Given the description of an element on the screen output the (x, y) to click on. 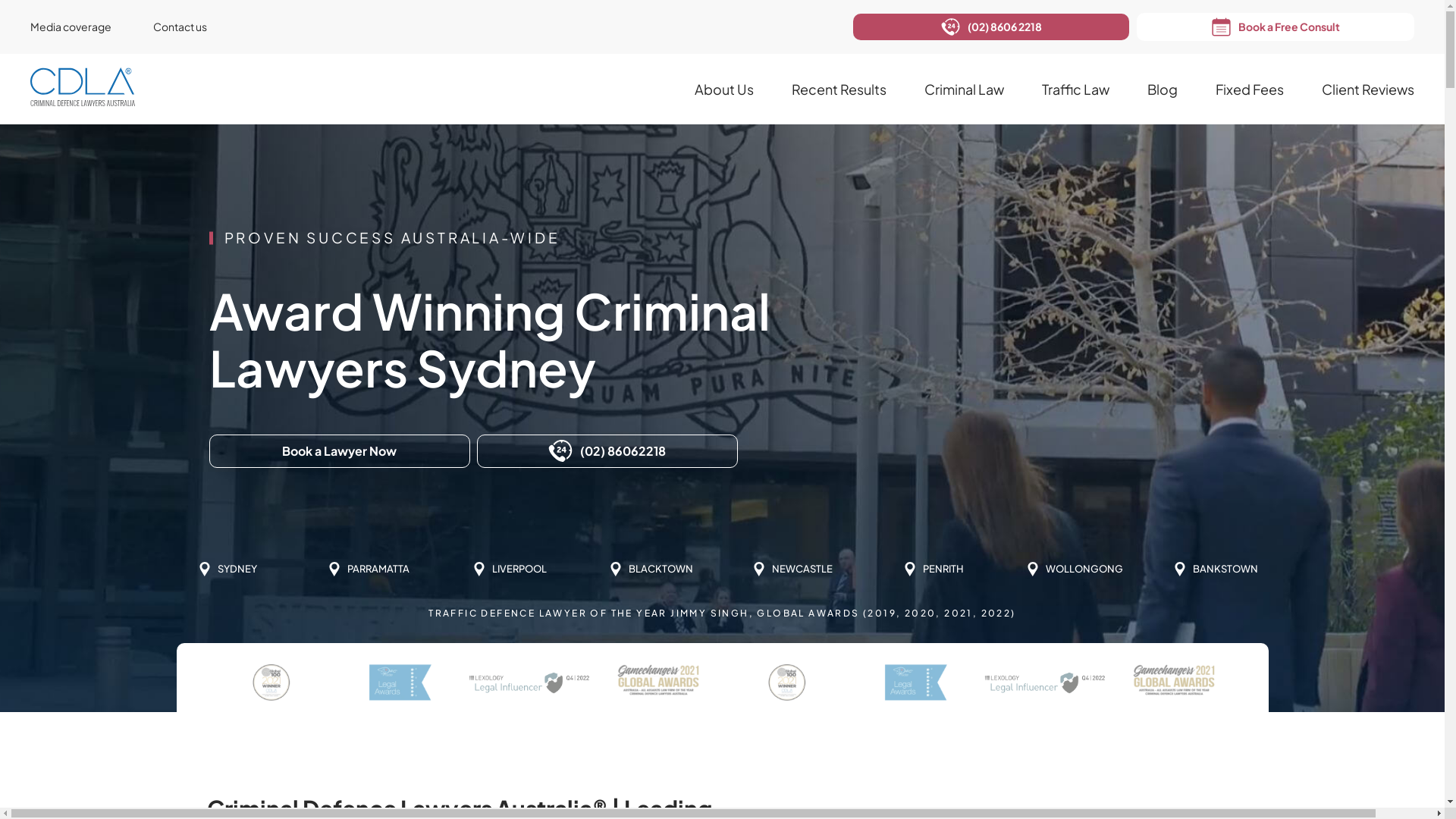
(02) 8606 2218 Element type: text (991, 26)
Fixed Fees Element type: text (1249, 88)
(02) 86062218 Element type: text (606, 450)
Book a Lawyer Now Element type: text (339, 450)
Criminal Law Element type: text (964, 88)
Media coverage Element type: text (91, 27)
BLACKTOWN Element type: text (650, 569)
Traffic Law Element type: text (1075, 88)
Book a Free Consult Element type: text (1275, 26)
SYDNEY Element type: text (227, 569)
PENRITH Element type: text (933, 569)
About Us Element type: text (723, 88)
Contact us Element type: text (200, 27)
NEWCASTLE Element type: text (791, 569)
Recent Results Element type: text (838, 88)
Client Reviews Element type: text (1367, 88)
WOLLONGONG Element type: text (1074, 569)
PARRAMATTA Element type: text (368, 569)
BANKSTOWN Element type: text (1215, 569)
Blog Element type: text (1162, 88)
LIVERPOOL Element type: text (509, 569)
